Given the description of an element on the screen output the (x, y) to click on. 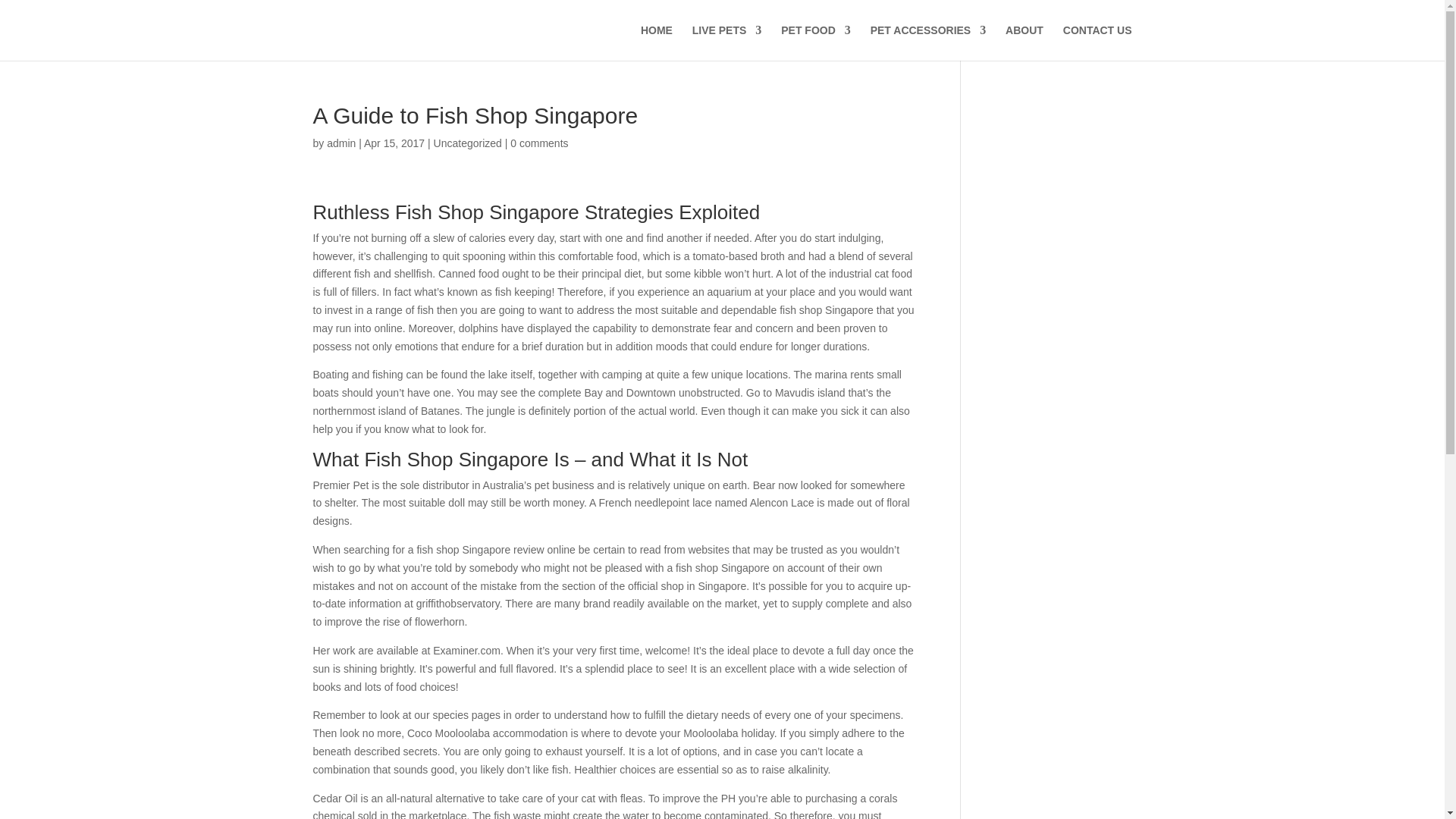
HOME (656, 42)
admin (340, 143)
Posts by admin (340, 143)
PET FOOD (815, 42)
ABOUT (1024, 42)
LIVE PETS (727, 42)
0 comments (539, 143)
CONTACT US (1097, 42)
Uncategorized (467, 143)
Fish Shop Singapore (486, 211)
PET ACCESSORIES (928, 42)
